Given the description of an element on the screen output the (x, y) to click on. 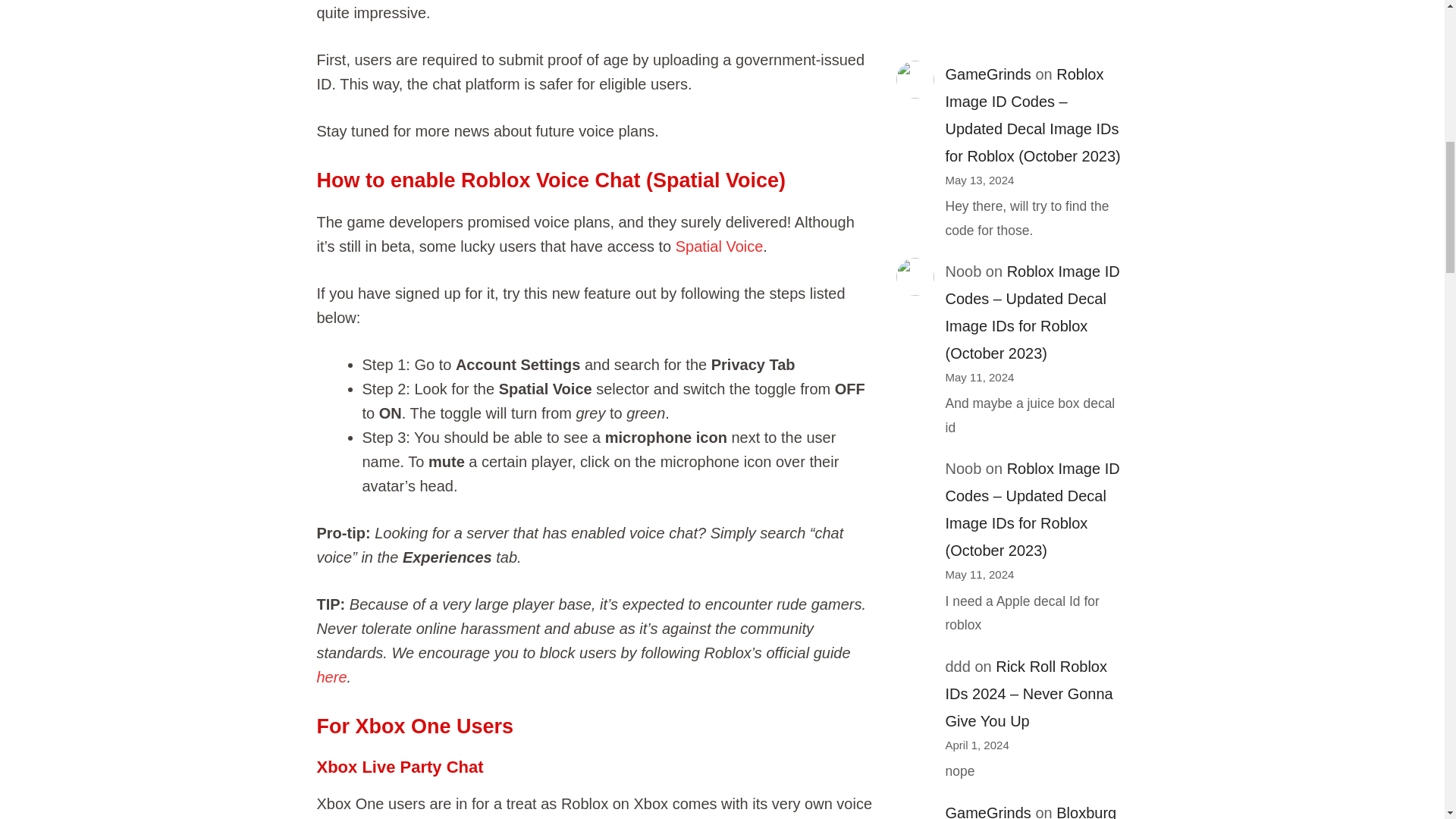
here (332, 677)
Spatial Voice (718, 246)
